Given the description of an element on the screen output the (x, y) to click on. 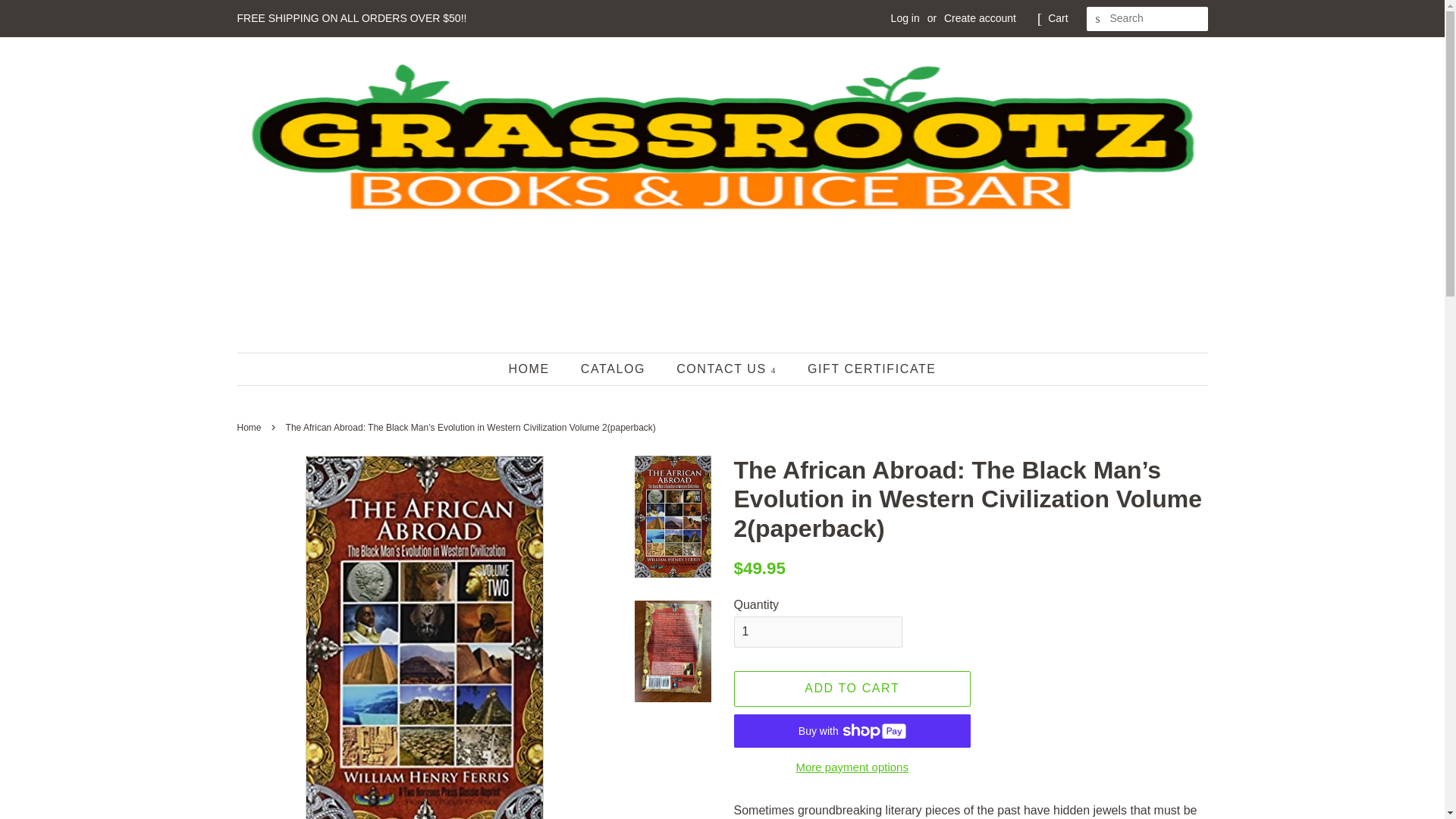
1 (817, 631)
Back to the frontpage (249, 427)
CONTACT US (728, 368)
More payment options (852, 766)
Create account (979, 18)
HOME (536, 368)
Log in (905, 18)
CATALOG (615, 368)
Cart (1057, 18)
ADD TO CART (852, 688)
GIFT CERTIFICATE (866, 368)
Smile.io Rewards Program Launcher (1374, 780)
Home (249, 427)
SEARCH (1097, 18)
